Given the description of an element on the screen output the (x, y) to click on. 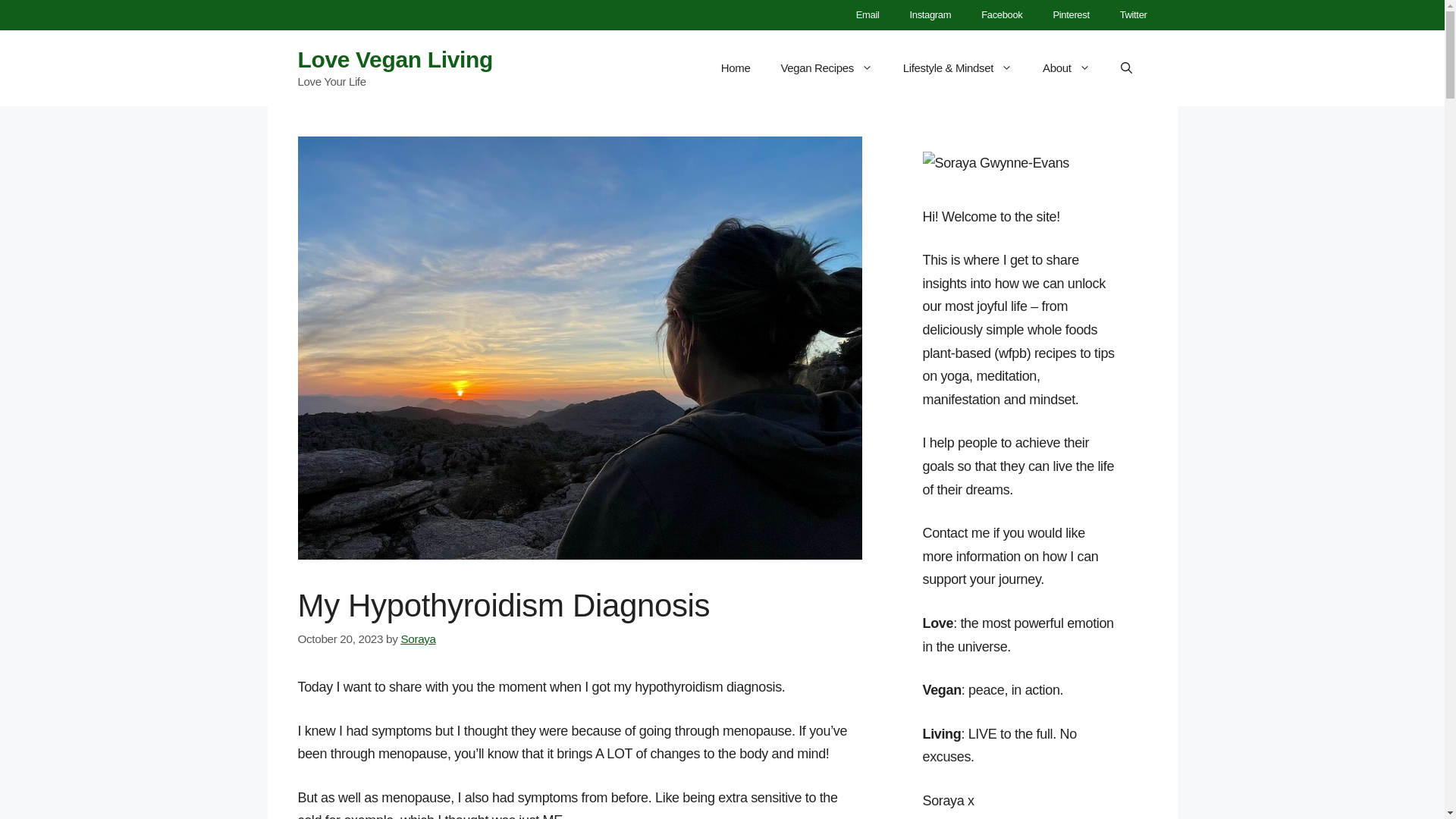
Instagram (930, 15)
Vegan Recipes (825, 67)
Love Vegan Living (394, 59)
Home (735, 67)
View all posts by Soraya (417, 638)
About (1066, 67)
Pinterest (1069, 15)
Soraya (417, 638)
Facebook (1001, 15)
Twitter (1133, 15)
Email (868, 15)
